Given the description of an element on the screen output the (x, y) to click on. 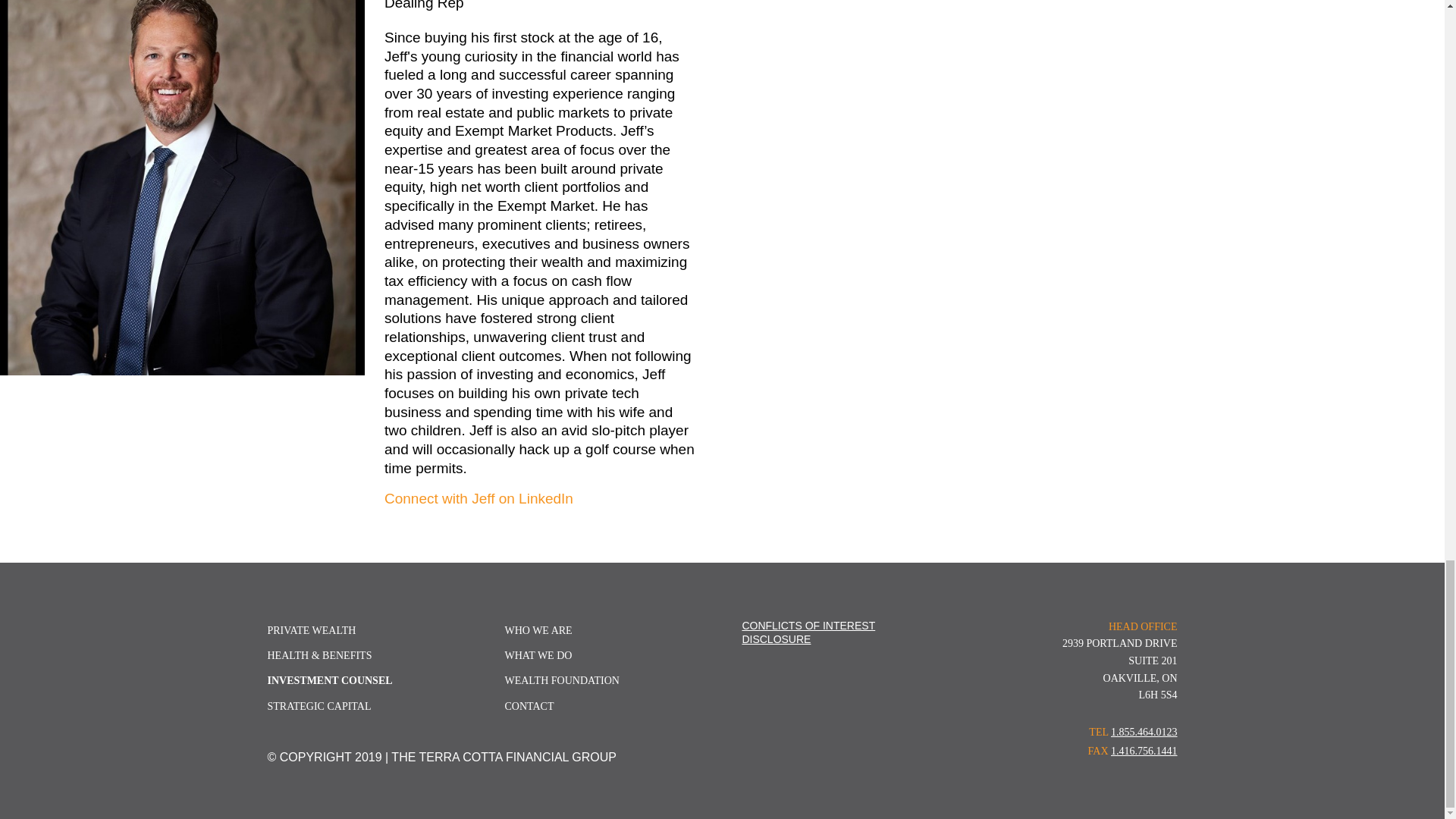
STRATEGIC CAPITAL (318, 706)
WHO WE ARE (537, 630)
INVESTMENT COUNSEL (328, 680)
WHAT WE DO (537, 655)
CONTACT (528, 706)
WEALTH FOUNDATION (561, 680)
1.416.756.1441 (1143, 750)
1.855.464.0123 (1143, 731)
PRIVATE WEALTH (310, 630)
CONFLICTS OF INTEREST DISCLOSURE (808, 632)
Connect with Jeff on LinkedIn (478, 498)
